Given the description of an element on the screen output the (x, y) to click on. 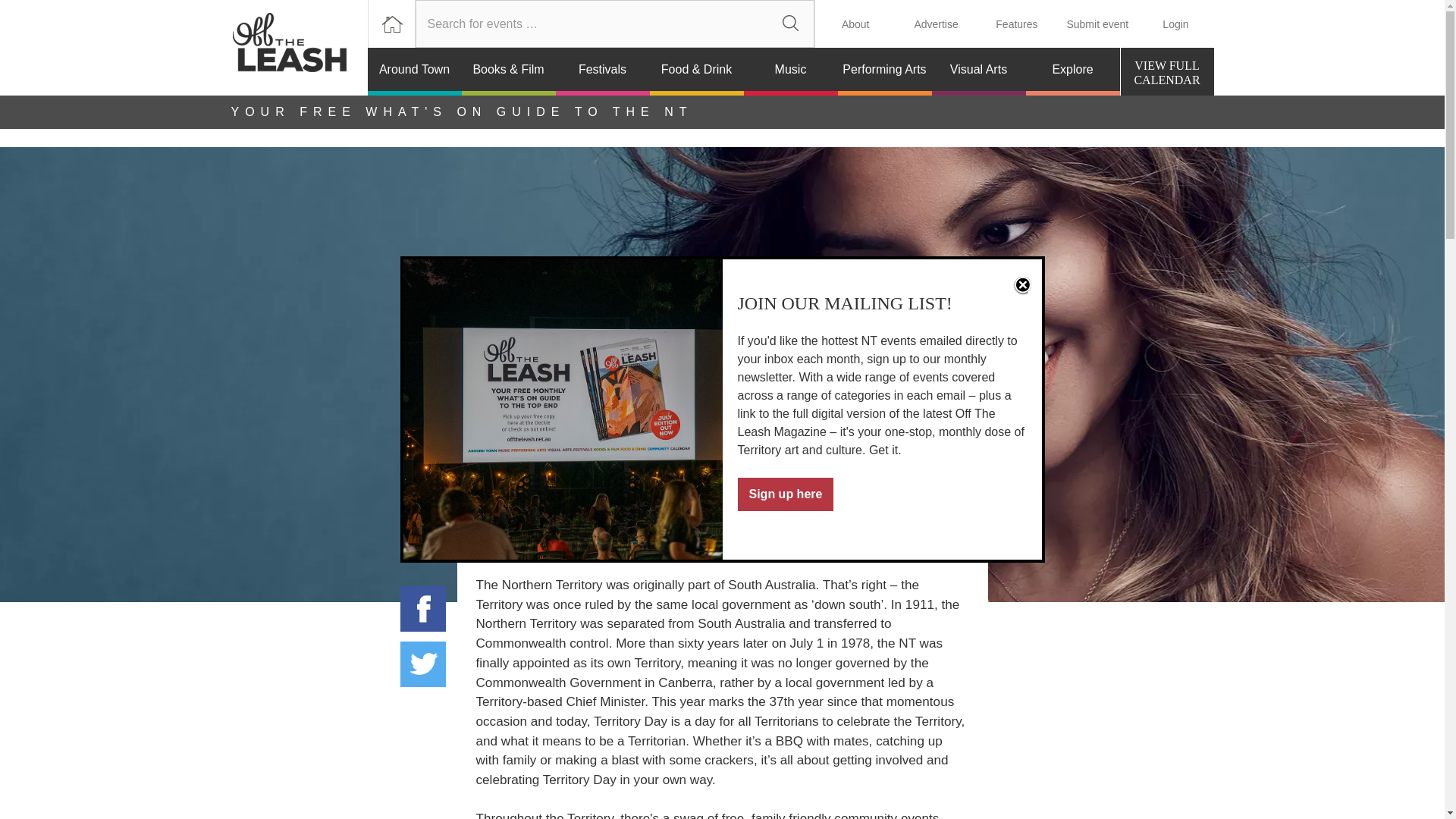
Performing Arts (884, 71)
Visual Arts (978, 71)
View all events (1167, 71)
Tweet this on twitter (422, 664)
Festivals (601, 71)
Home (1167, 71)
Share on Facebook (390, 23)
Music (422, 608)
About (789, 71)
Search (855, 23)
Home (790, 23)
Explore (298, 47)
Search (1072, 71)
Off The Leash (790, 23)
